Given the description of an element on the screen output the (x, y) to click on. 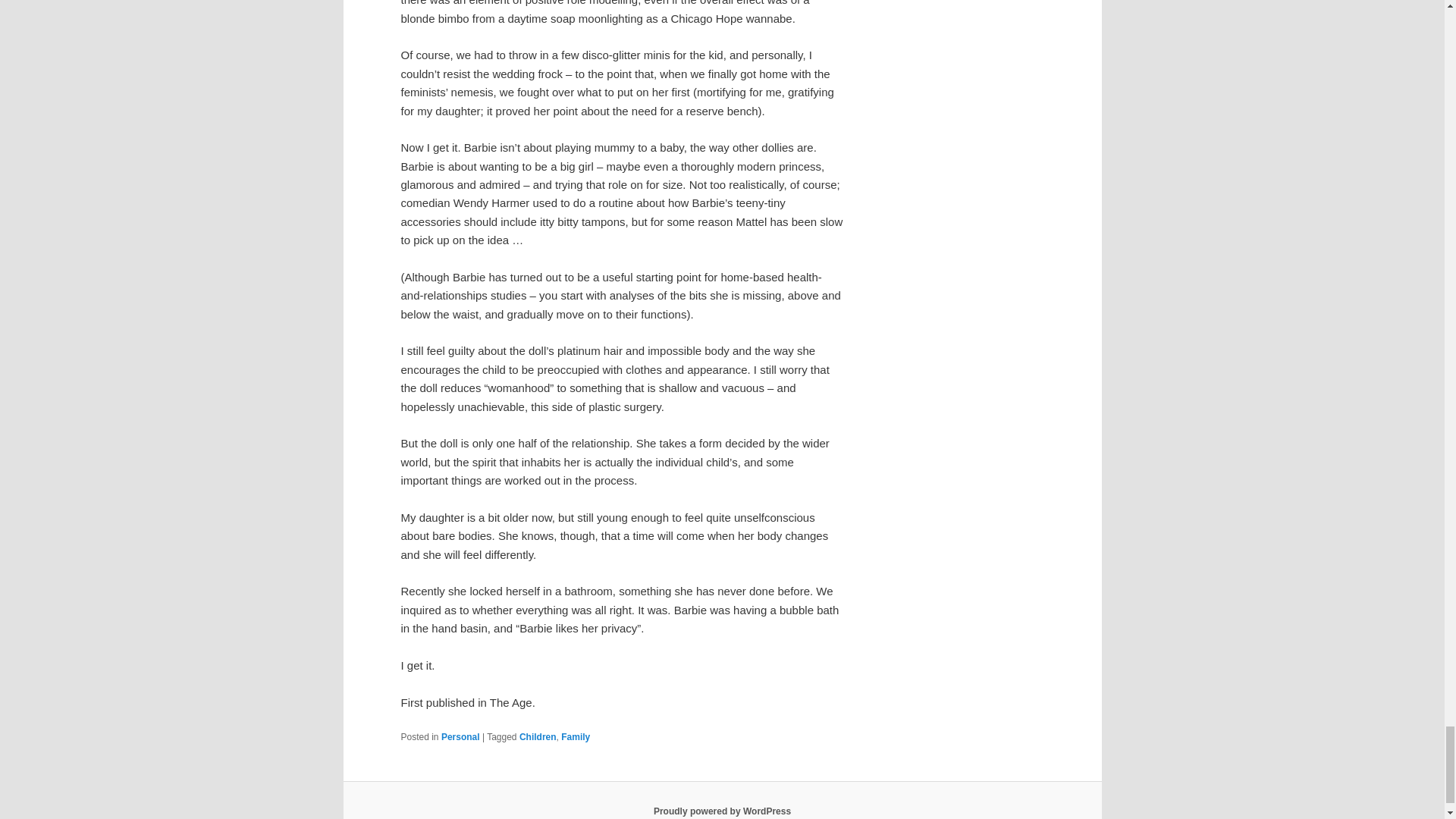
Children (537, 737)
Family (574, 737)
Personal (460, 737)
Semantic Personal Publishing Platform (721, 810)
